Given the description of an element on the screen output the (x, y) to click on. 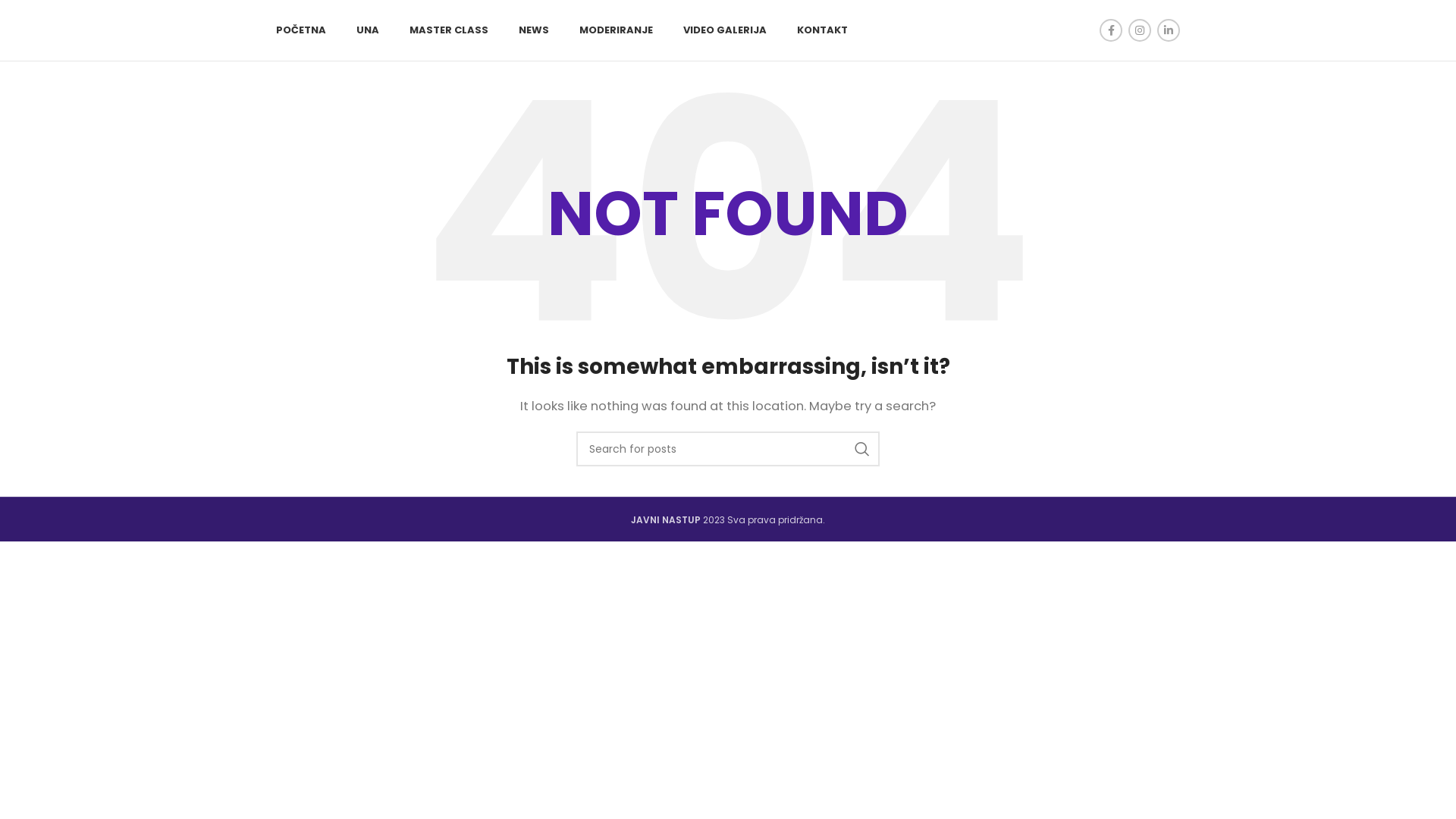
UNA Element type: text (367, 30)
MODERIRANJE Element type: text (615, 30)
KONTAKT Element type: text (822, 30)
NEWS Element type: text (533, 30)
SEARCH Element type: text (861, 448)
Search for posts Element type: hover (727, 448)
VIDEO GALERIJA Element type: text (724, 30)
MASTER CLASS Element type: text (448, 30)
